Given the description of an element on the screen output the (x, y) to click on. 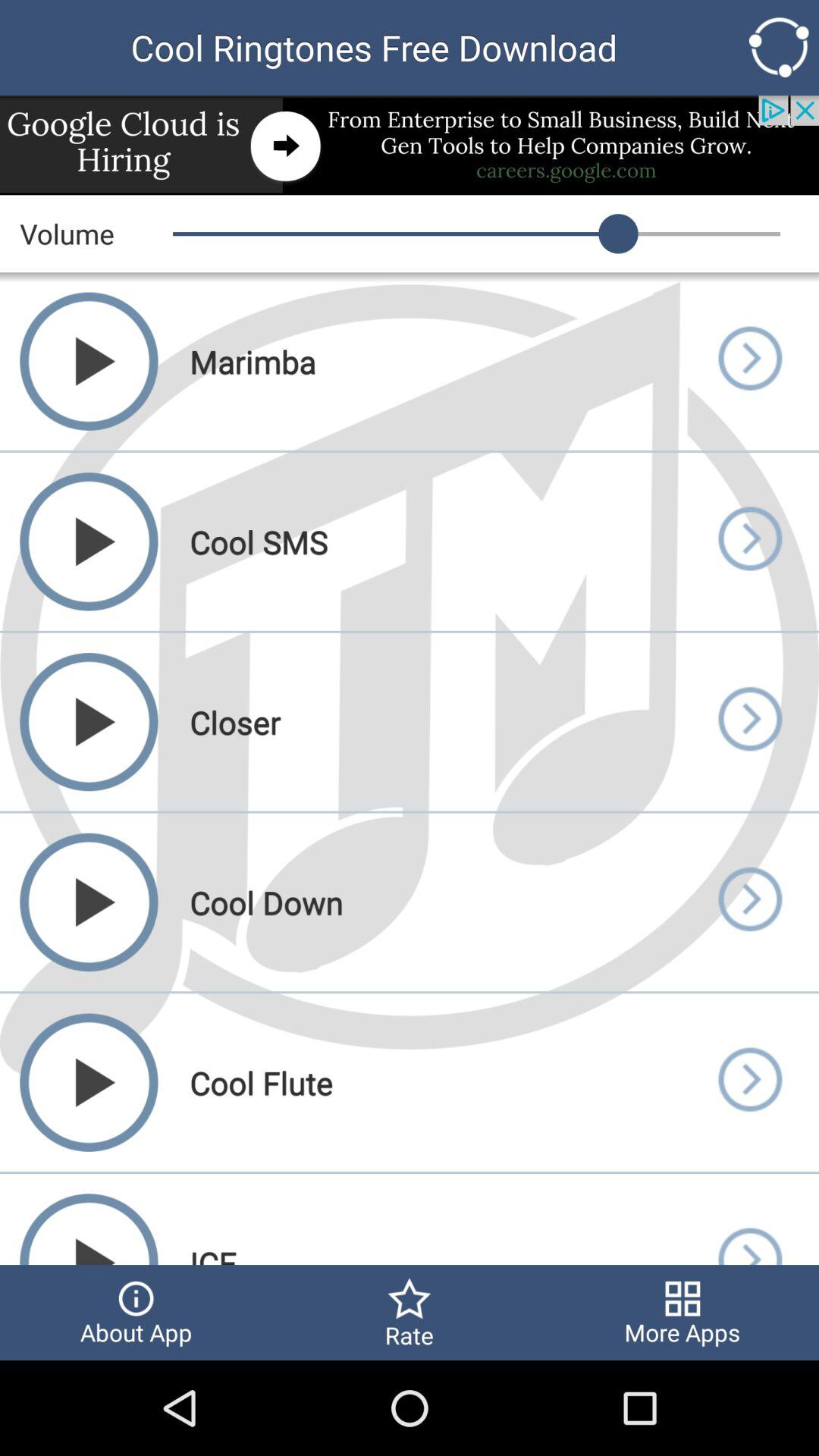
next button (749, 541)
